Given the description of an element on the screen output the (x, y) to click on. 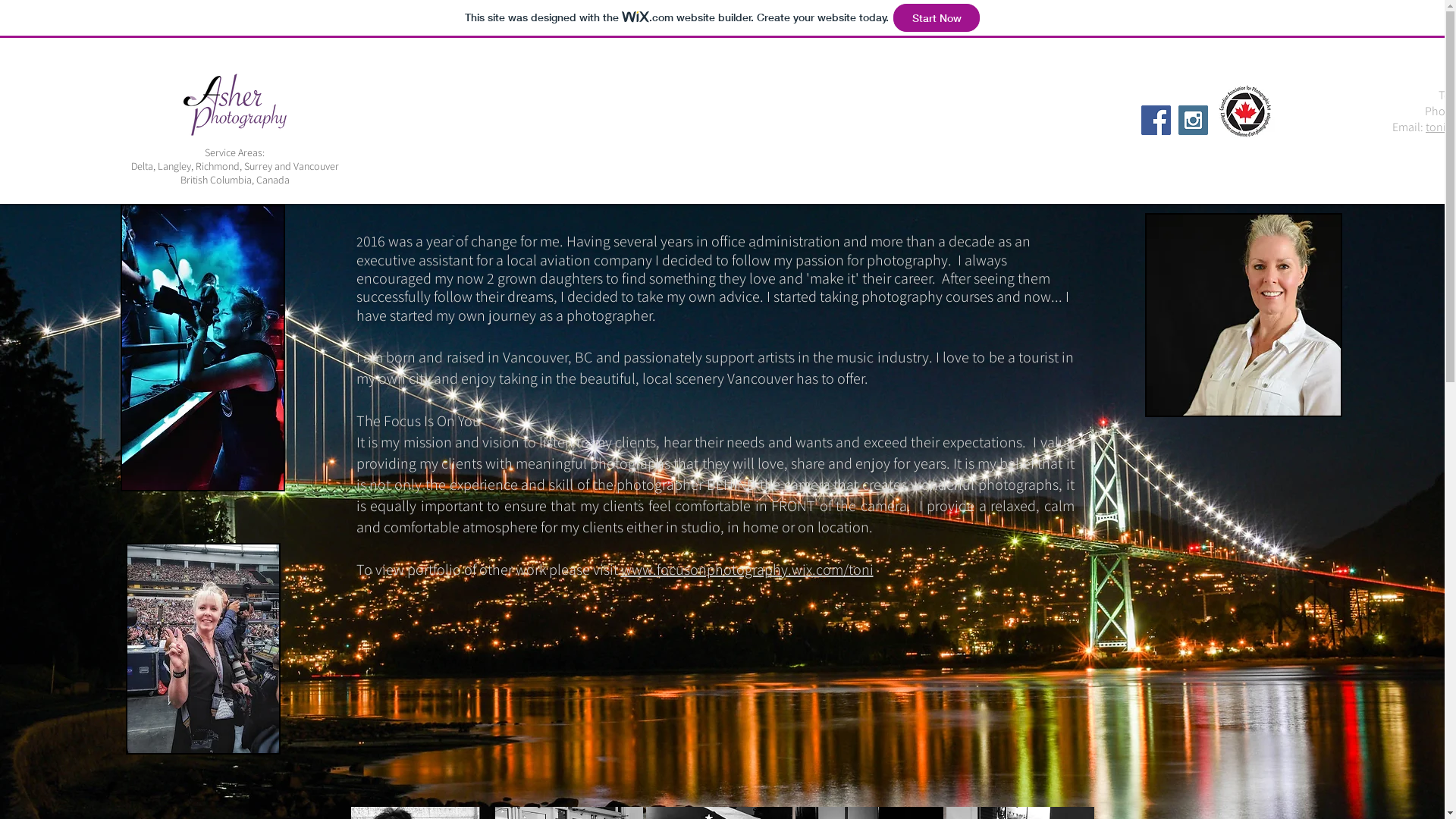
Platform at McCartney 2019.jpg Element type: hover (202, 648)
www.focusonphotography.wix.com/toni Element type: text (746, 569)
DSC_7245.jpg Element type: hover (1243, 315)
